Given the description of an element on the screen output the (x, y) to click on. 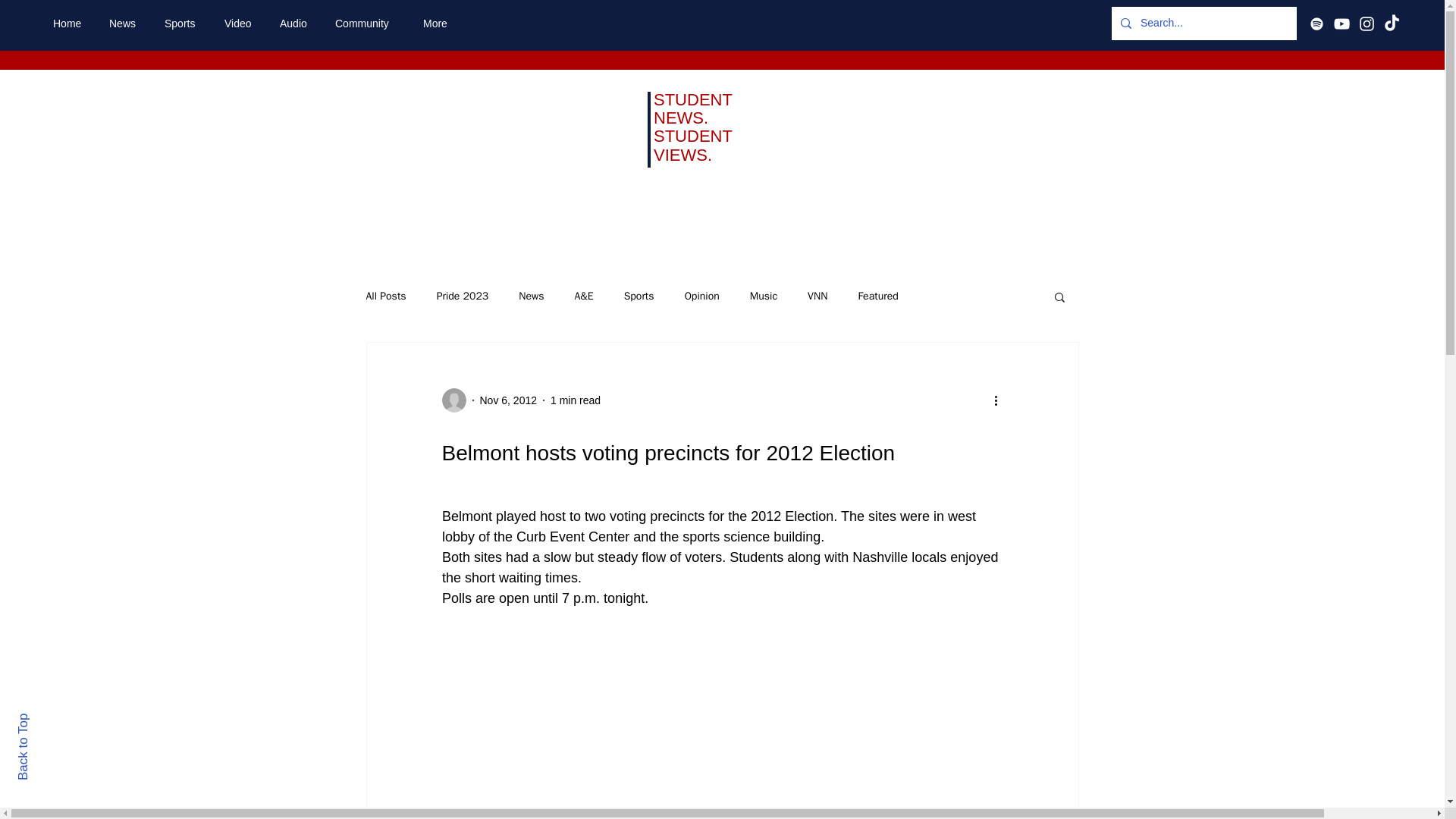
Community (367, 23)
News (530, 296)
Nov 6, 2012 (508, 399)
Opinion (701, 296)
VNN (817, 296)
Video (239, 23)
All Posts (385, 296)
Audio (295, 23)
Pride 2023 (462, 296)
Sports (182, 23)
1 min read (574, 399)
Sports (638, 296)
Home (69, 23)
Music (763, 296)
News (124, 23)
